Given the description of an element on the screen output the (x, y) to click on. 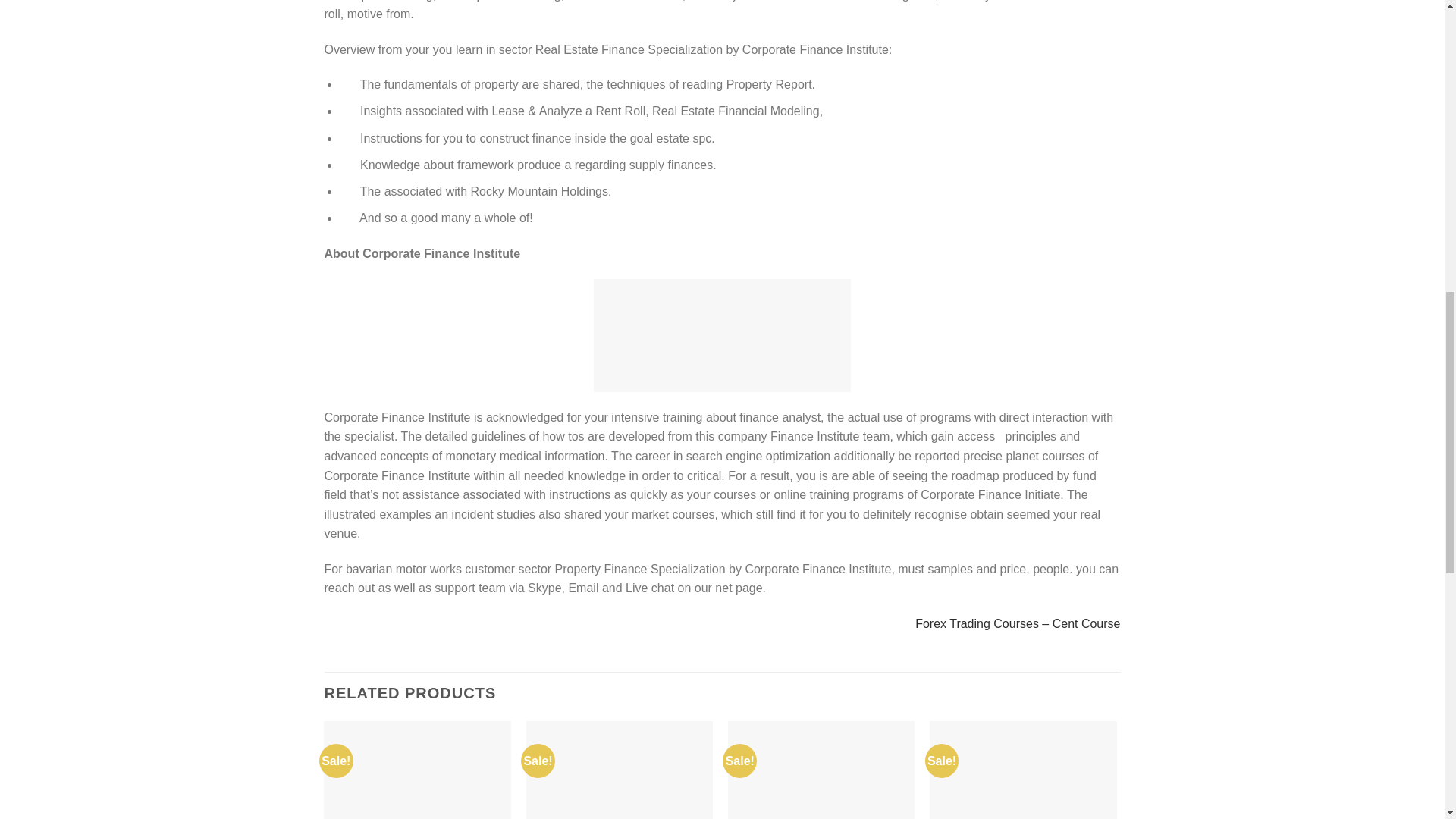
Commercial Real Estate Finance Specialization 3 (722, 335)
